Given the description of an element on the screen output the (x, y) to click on. 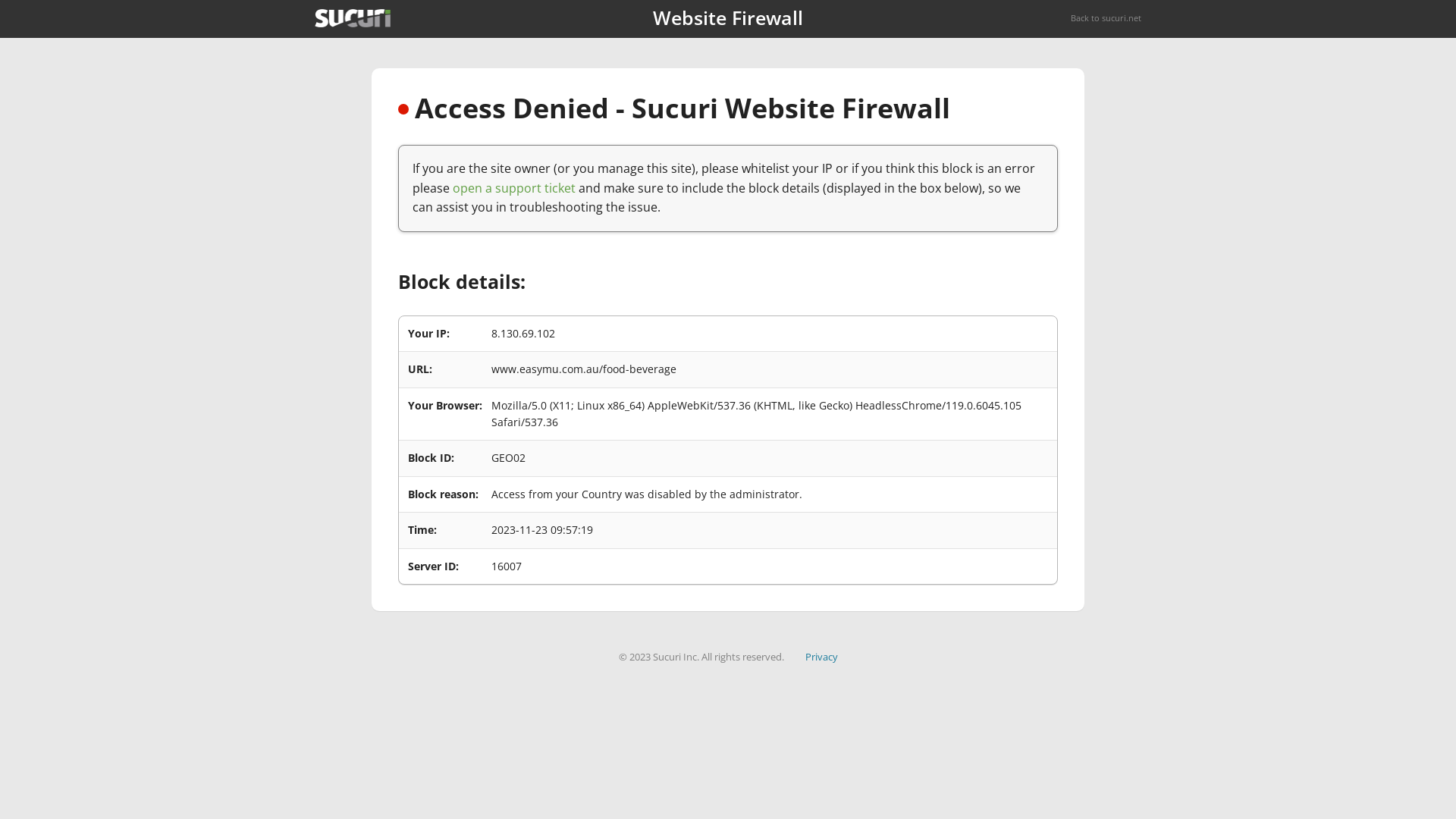
Back to sucuri.net Element type: text (1105, 18)
open a support ticket Element type: text (513, 187)
Privacy Element type: text (821, 656)
